Given the description of an element on the screen output the (x, y) to click on. 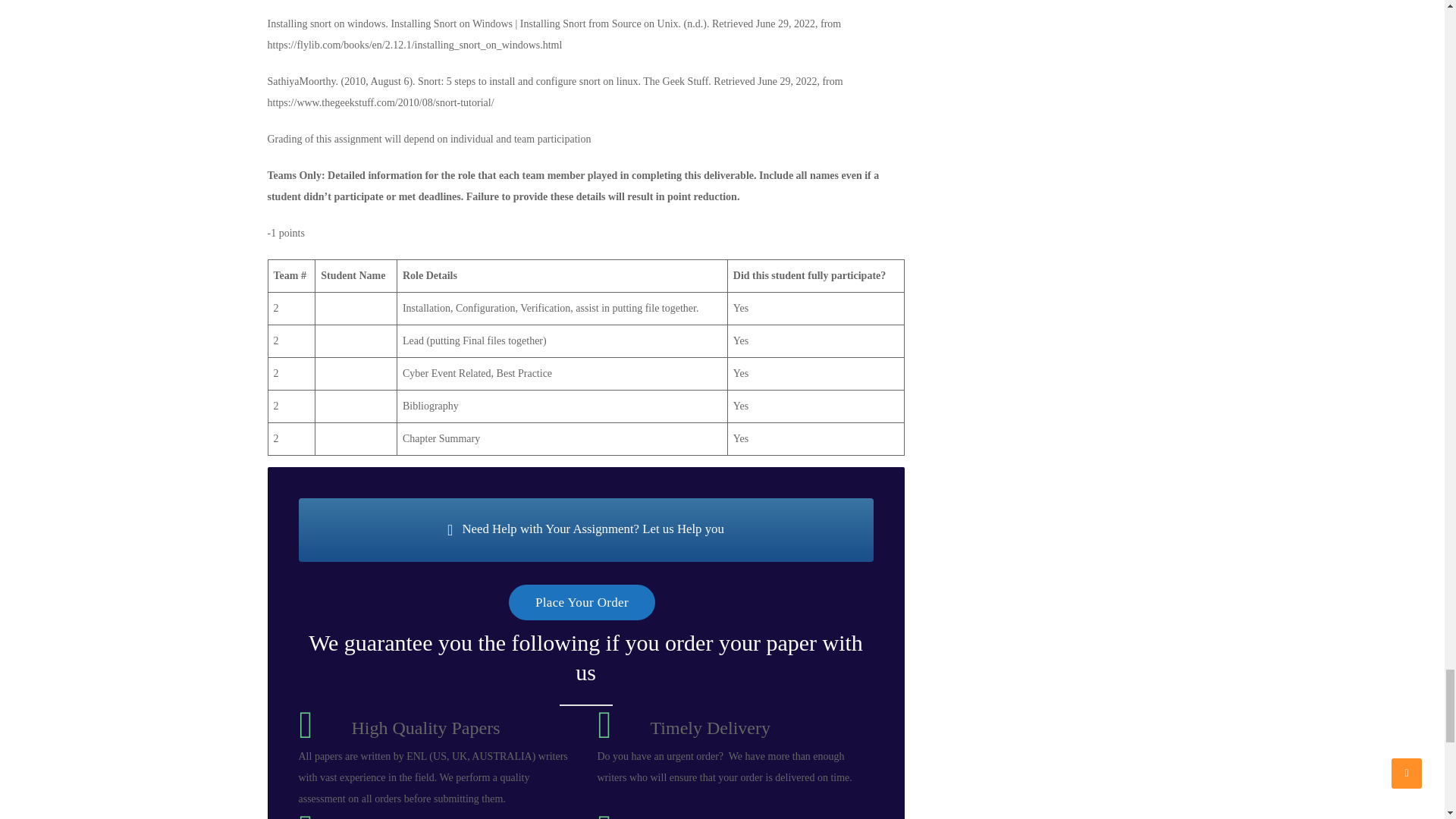
Timely Delivery (710, 727)
Need Help with Your Assignment? Let us Help you (585, 529)
Place Your Order (581, 601)
High Quality Papers (426, 727)
